Given the description of an element on the screen output the (x, y) to click on. 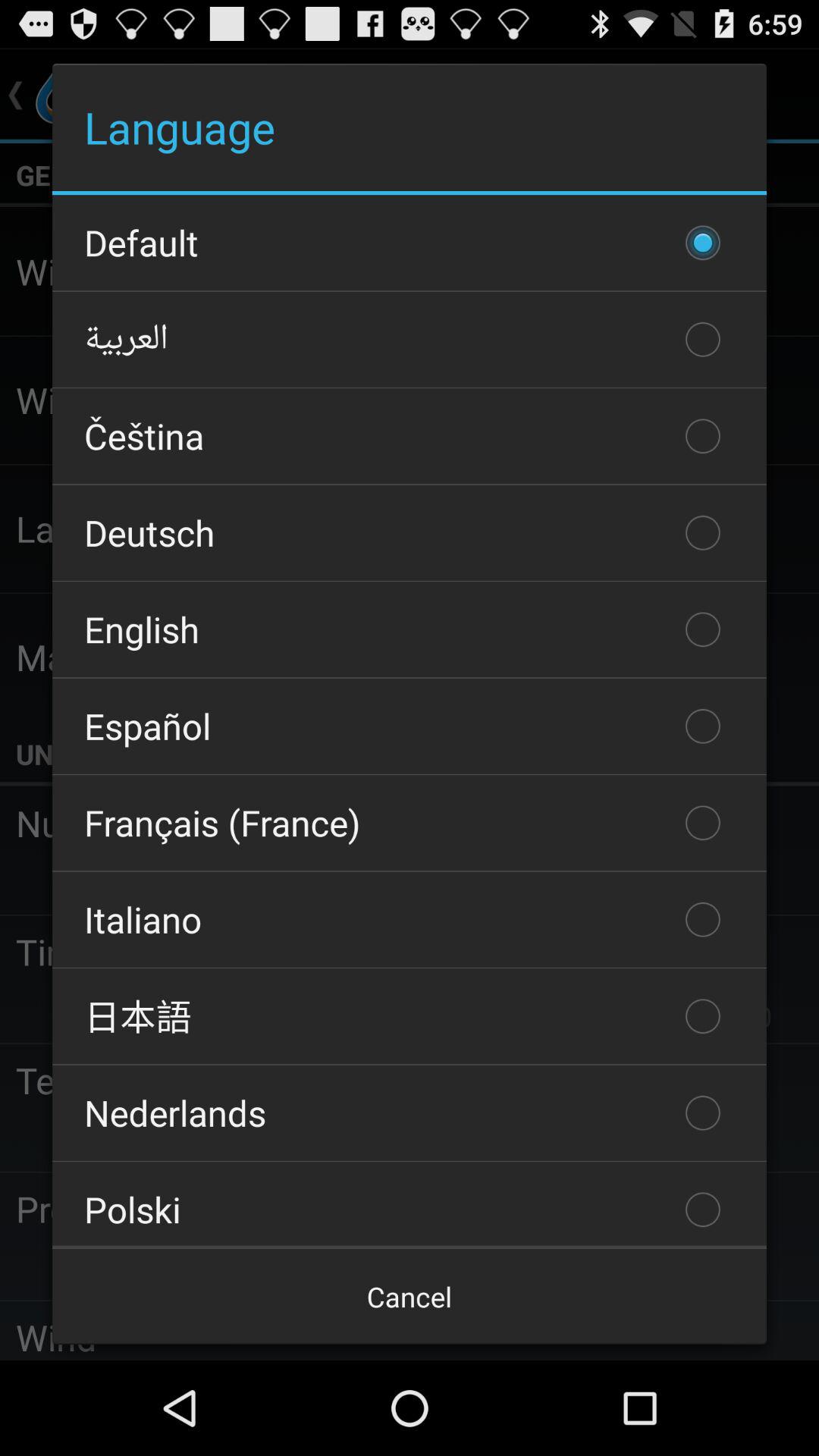
click icon below polski checkbox (409, 1296)
